Given the description of an element on the screen output the (x, y) to click on. 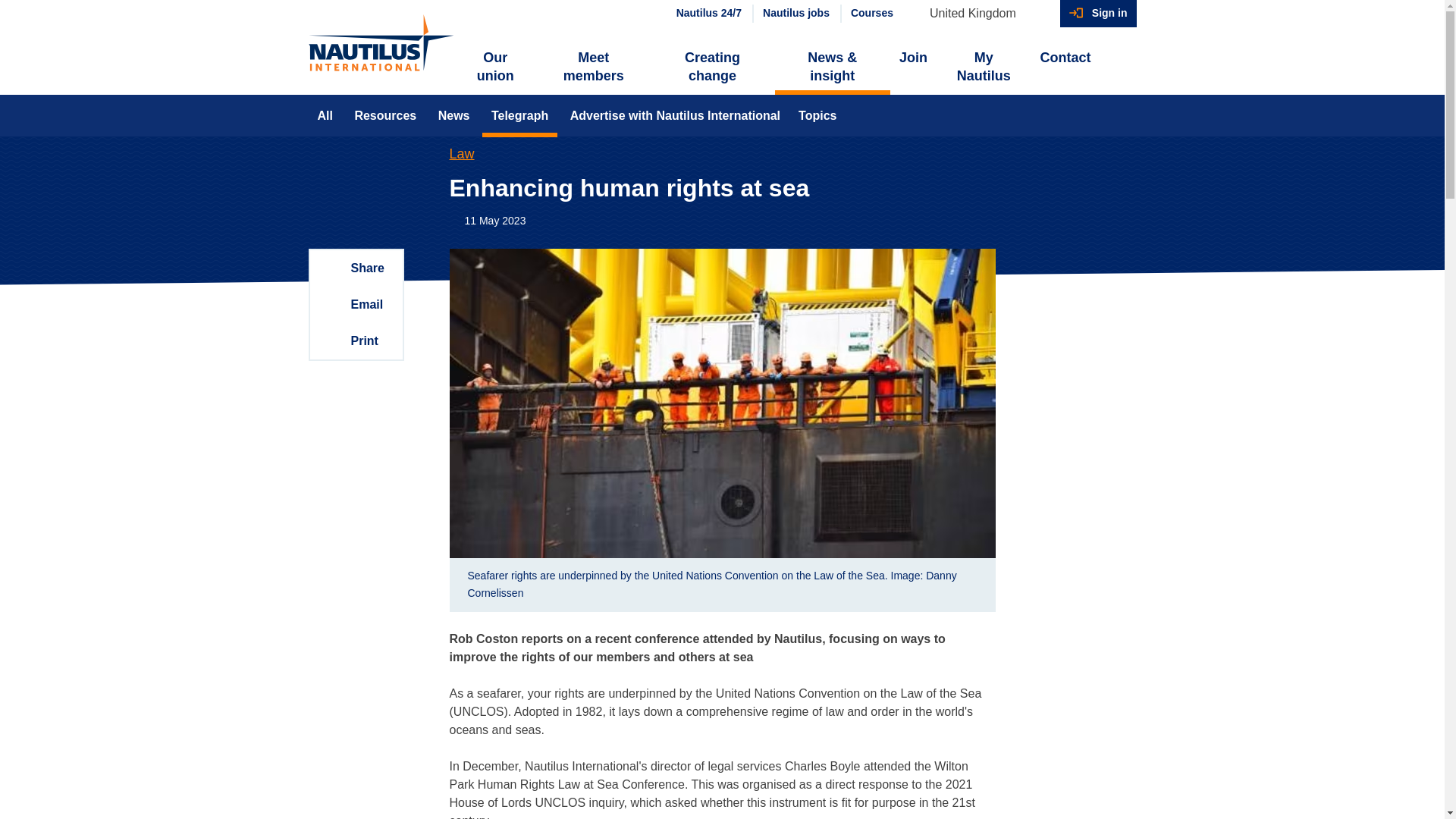
Nautilus jobs (795, 13)
Courses (871, 13)
Creating change (711, 67)
Contact (1065, 58)
Sign in (1098, 13)
Our union (495, 67)
Meet members (593, 67)
Join (912, 58)
United Kingdom (979, 13)
